Given the description of an element on the screen output the (x, y) to click on. 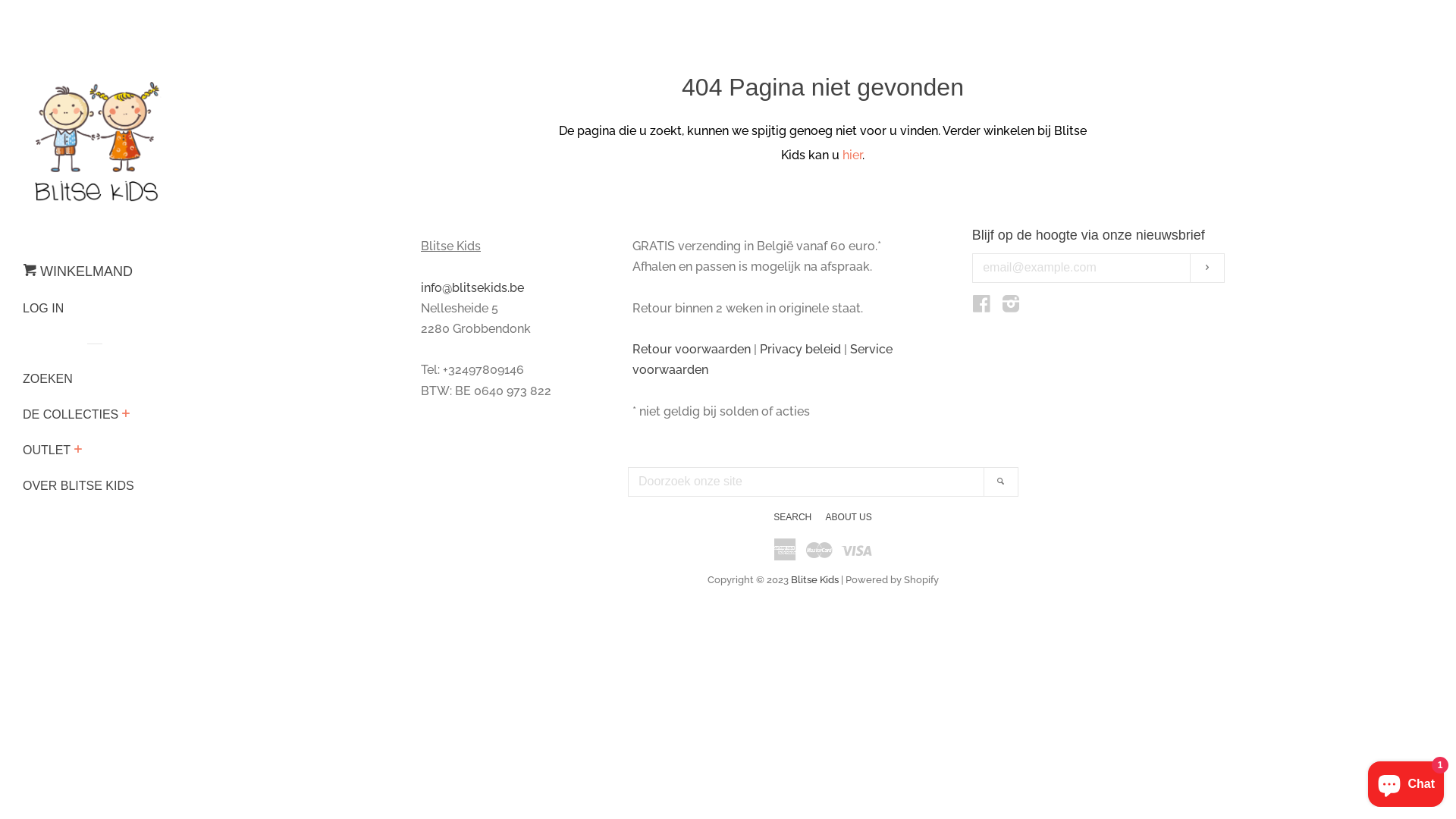
WINKELMAND Element type: text (77, 276)
Blijf op de hoogte Element type: text (1206, 268)
Instagram Element type: text (1010, 306)
DE COLLECTIES Element type: text (70, 420)
Onlinewinkel-chat van Shopify Element type: hover (1405, 780)
OVER BLITSE KIDS Element type: text (83, 491)
hier Element type: text (852, 154)
SEARCH Element type: text (792, 516)
Facebook Element type: text (981, 306)
ZOEKEN Element type: text (83, 384)
LOG IN Element type: text (83, 314)
info@blitsekids.be Element type: text (472, 287)
Service voorwaarden Element type: text (762, 359)
Privacy beleid Element type: text (799, 349)
Zoek Element type: text (1000, 481)
Retour voorwaarden Element type: text (691, 349)
ABOUT US Element type: text (848, 516)
Blitse Kids Element type: text (813, 579)
klap uit Element type: text (125, 415)
OUTLET Element type: text (46, 455)
klap uit Element type: text (77, 451)
